Given the description of an element on the screen output the (x, y) to click on. 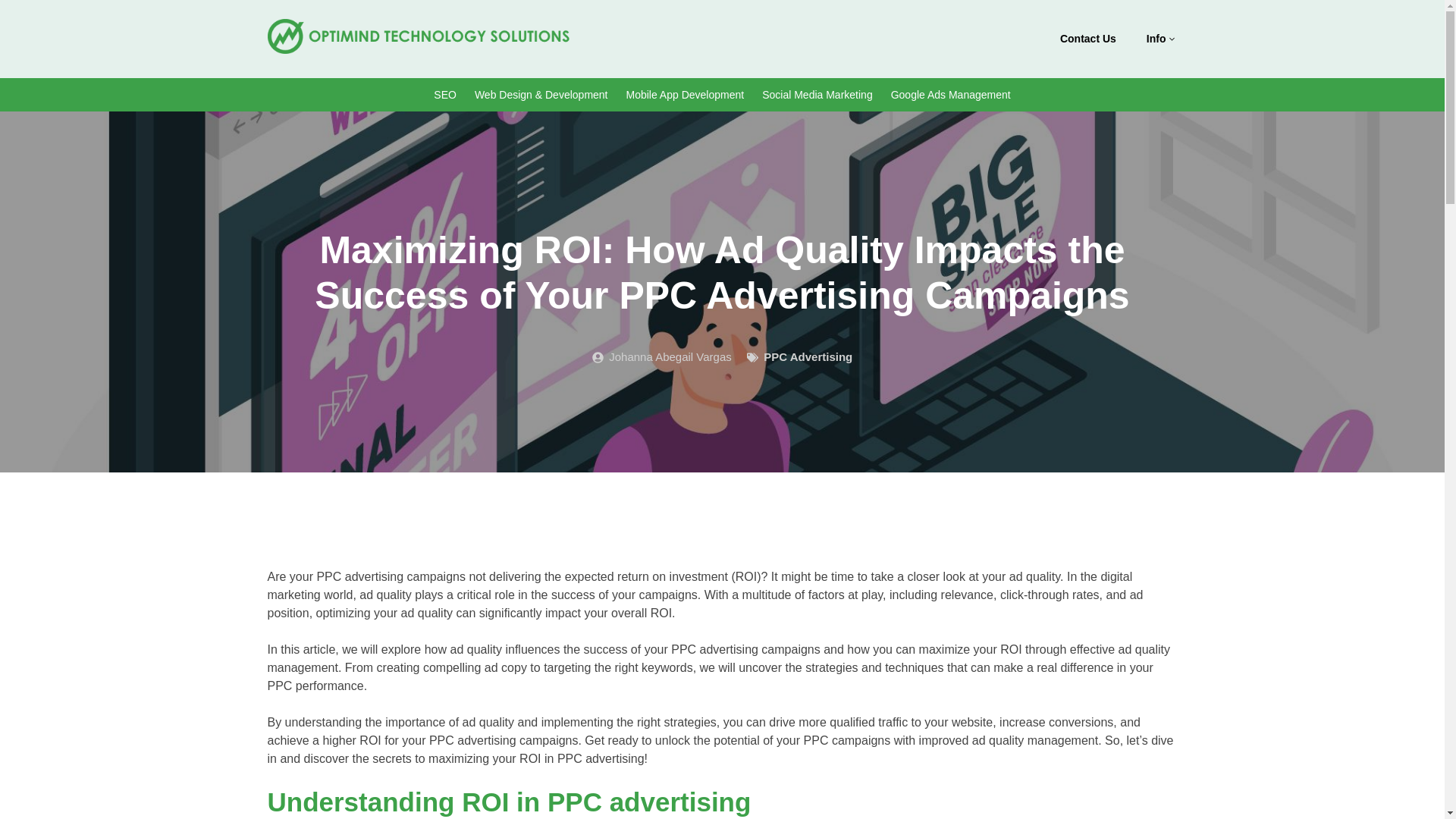
Mobile App Development (685, 94)
PPC Advertising (806, 356)
Info (1157, 38)
Contact Us (1088, 38)
SEO (445, 94)
Social Media Marketing (817, 94)
Google Ads Management (951, 94)
